Given the description of an element on the screen output the (x, y) to click on. 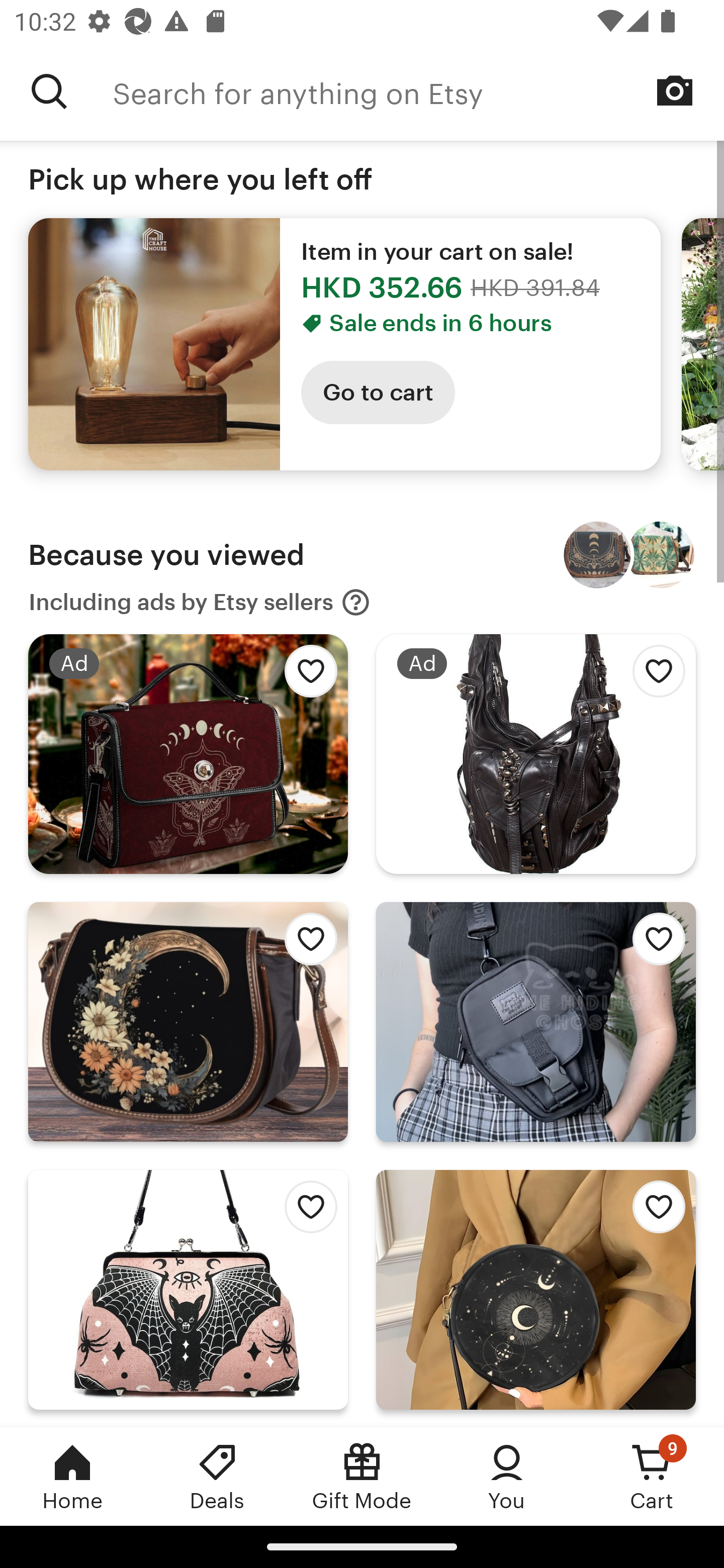
Search for anything on Etsy (49, 91)
Search by image (674, 90)
Search for anything on Etsy (418, 91)
Including ads by Etsy sellers (199, 601)
Deals (216, 1475)
Gift Mode (361, 1475)
You (506, 1475)
Cart, 9 new notifications Cart (651, 1475)
